Given the description of an element on the screen output the (x, y) to click on. 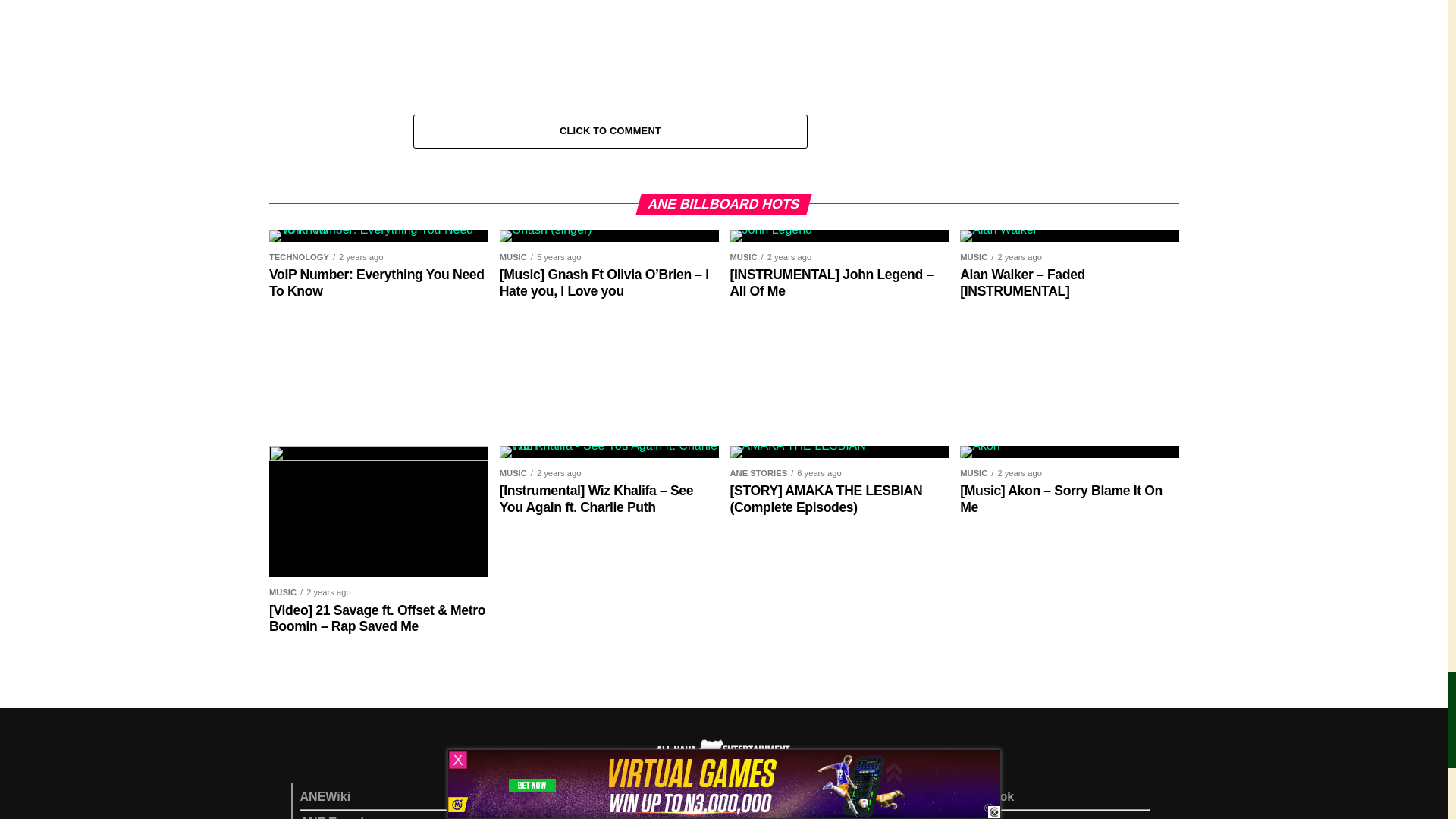
News Updates And Metros (563, 796)
Advertise With Us (764, 796)
Entertainment News And Updates (560, 817)
